Given the description of an element on the screen output the (x, y) to click on. 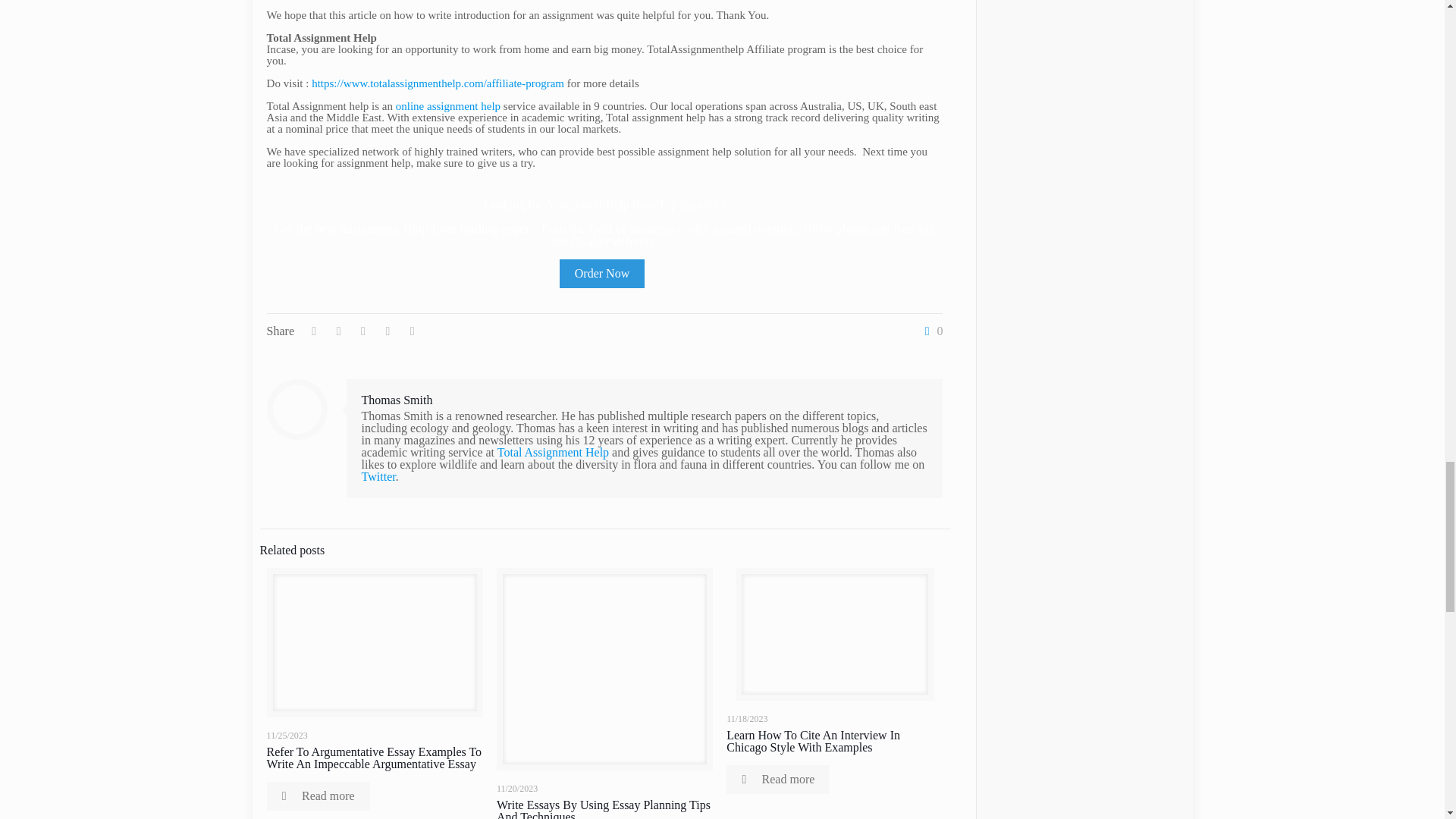
Total Assignment Help (552, 451)
0 (930, 331)
Read more (777, 778)
online assignment help (448, 105)
Twitter (378, 476)
Thomas Smith (396, 399)
Read more (317, 796)
Write Essays By Using Essay Planning Tips And Techniques (603, 808)
Order Now (602, 273)
